Given the description of an element on the screen output the (x, y) to click on. 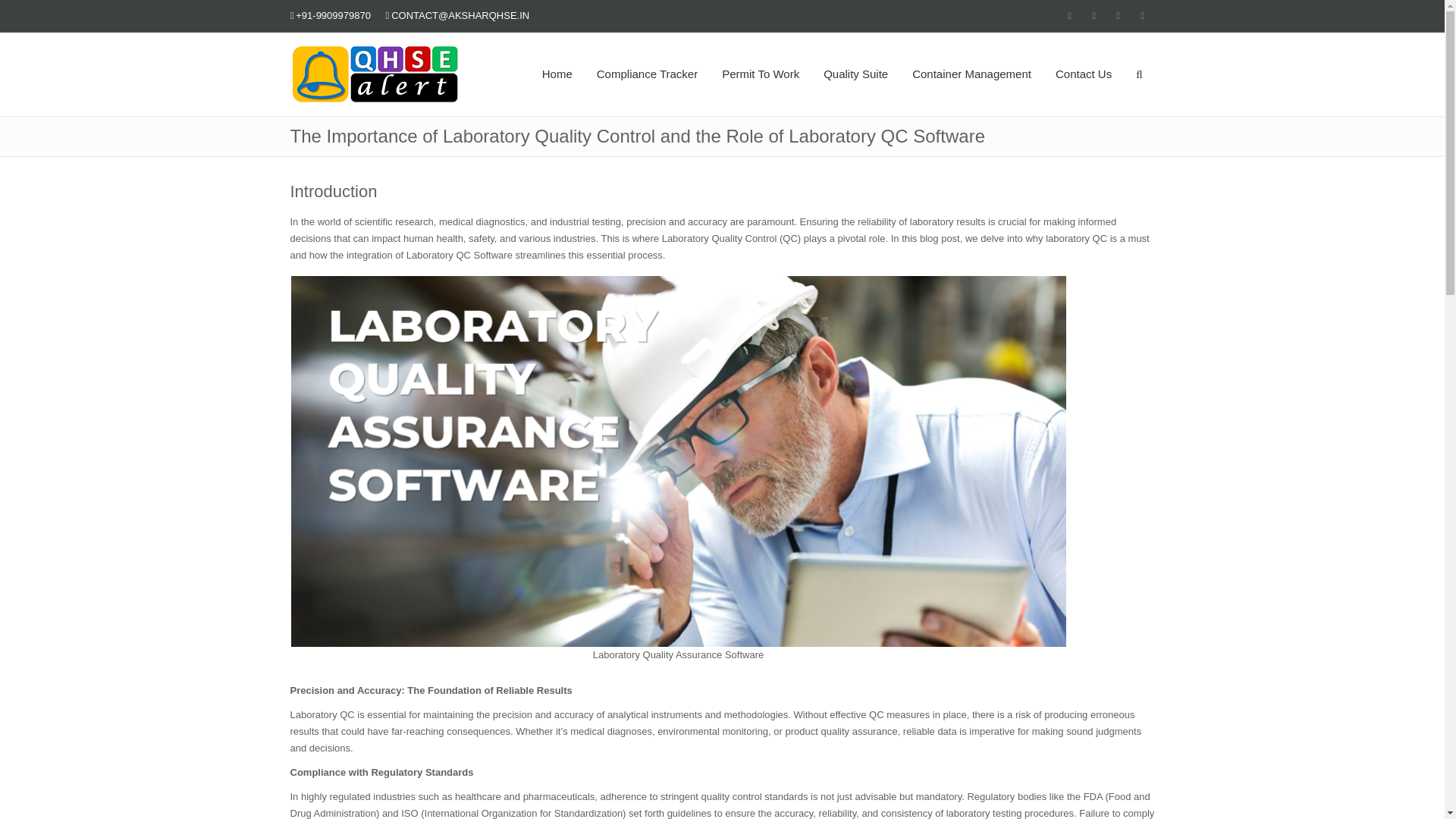
Permit To Work (760, 74)
Compliance Tracker (647, 74)
Contact Us (1083, 74)
Home (557, 74)
Quality Suite (854, 74)
Container Management (971, 74)
